Given the description of an element on the screen output the (x, y) to click on. 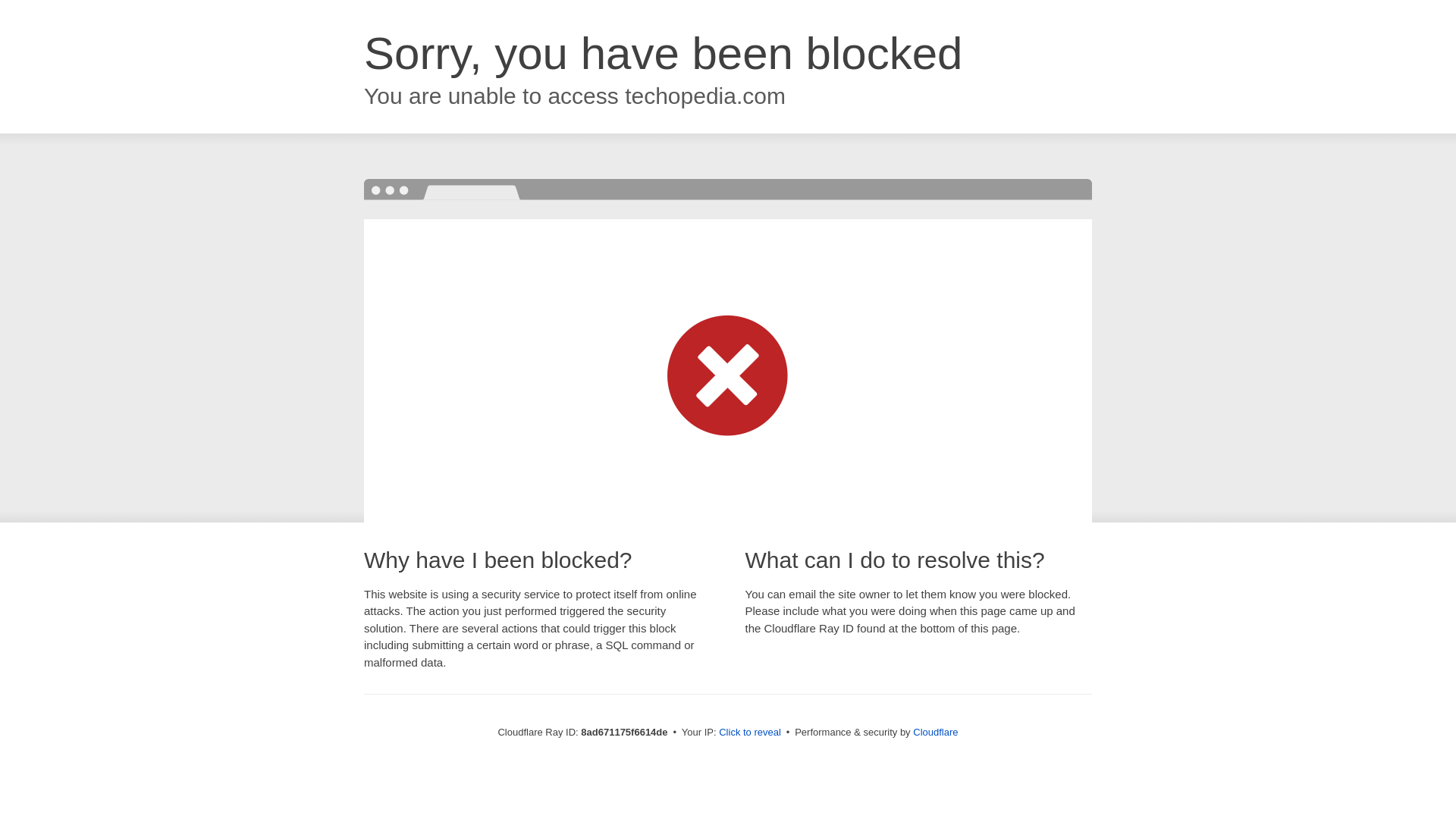
Click to reveal (749, 732)
Cloudflare (935, 731)
